Given the description of an element on the screen output the (x, y) to click on. 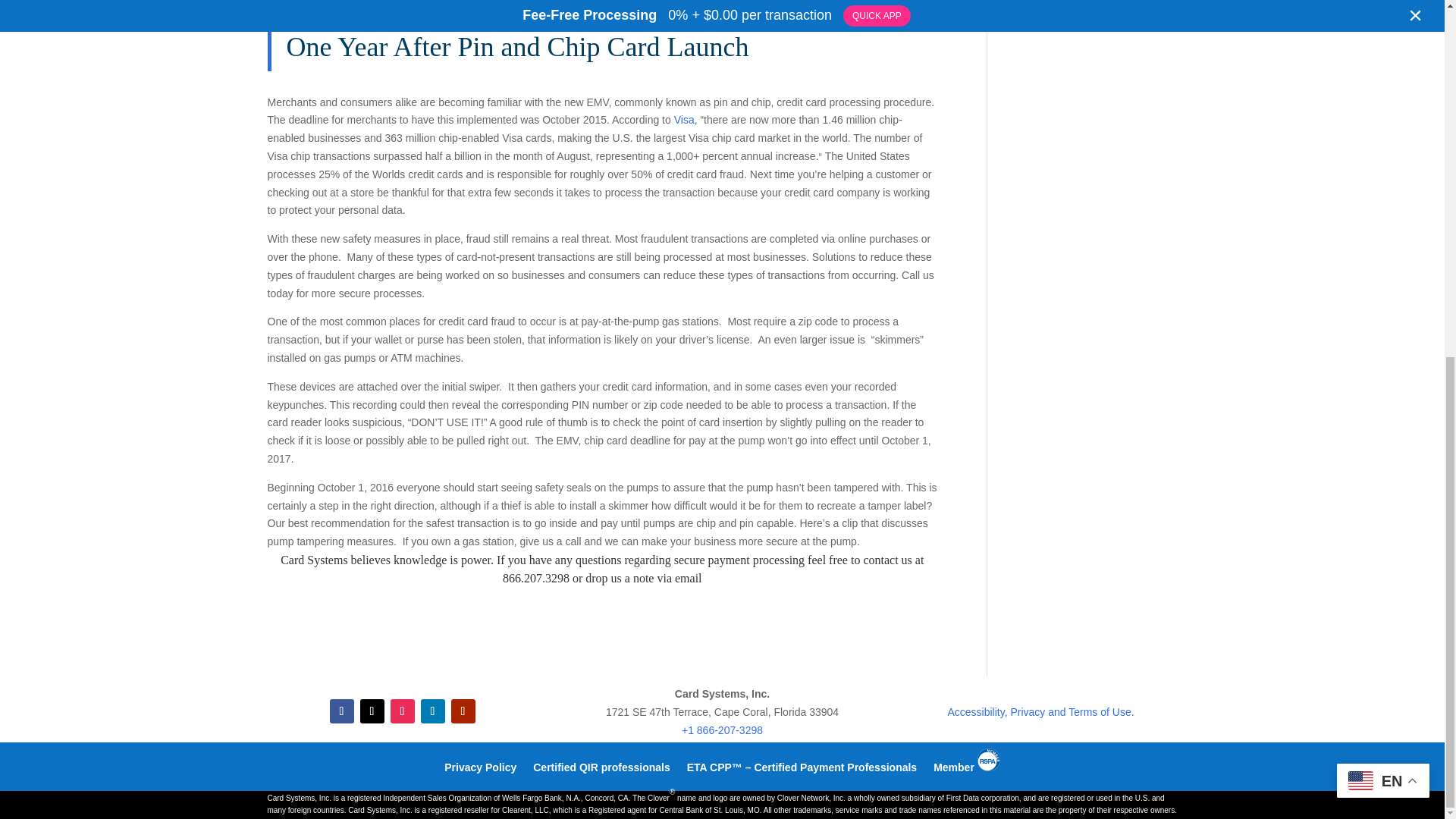
Follow on Instagram (401, 711)
Follow on Facebook (341, 711)
Follow on X (371, 711)
Follow on LinkedIn (432, 711)
Follow on Youtube (461, 711)
